Given the description of an element on the screen output the (x, y) to click on. 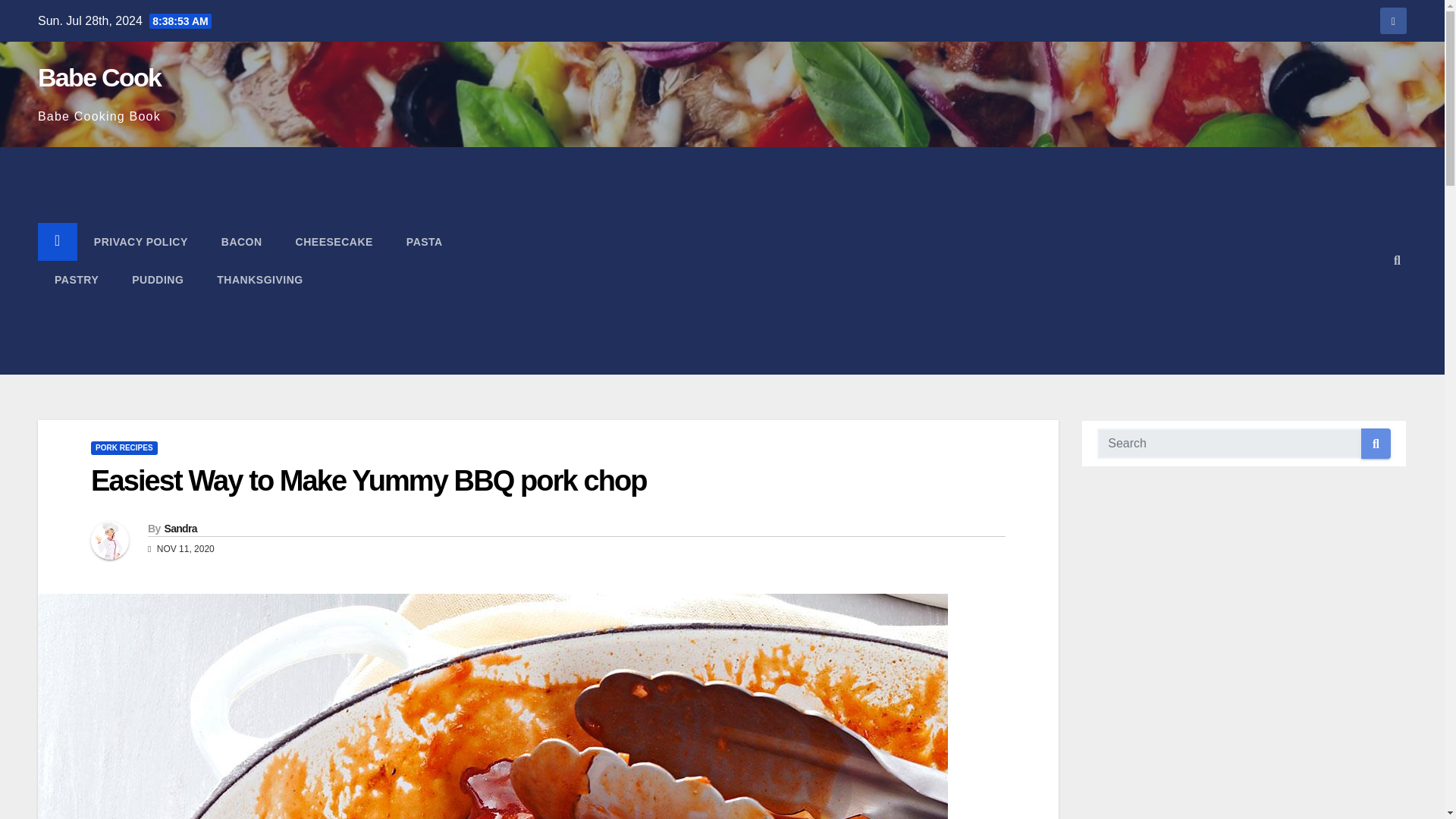
Pastry (76, 279)
PASTRY (76, 279)
Cheesecake (334, 241)
Babe Cook (98, 77)
PASTA (425, 241)
PUDDING (157, 279)
THANKSGIVING (259, 279)
CHEESECAKE (334, 241)
Pasta (425, 241)
Easiest Way to Make Yummy BBQ pork chop (368, 480)
PRIVACY POLICY (141, 241)
PORK RECIPES (123, 448)
BACON (242, 241)
Sandra (179, 528)
Privacy Policy (141, 241)
